Given the description of an element on the screen output the (x, y) to click on. 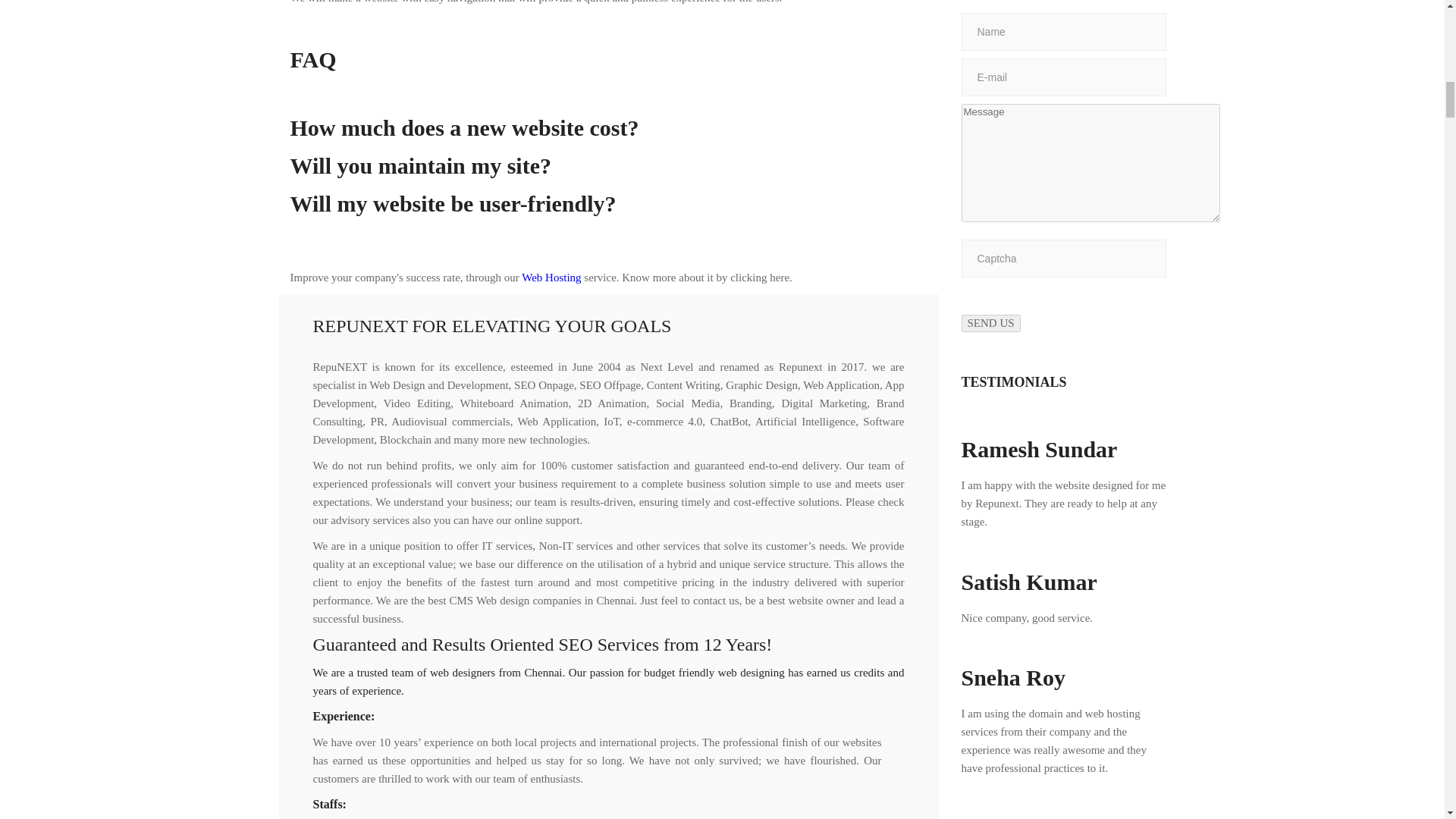
SEND US (990, 323)
